Given the description of an element on the screen output the (x, y) to click on. 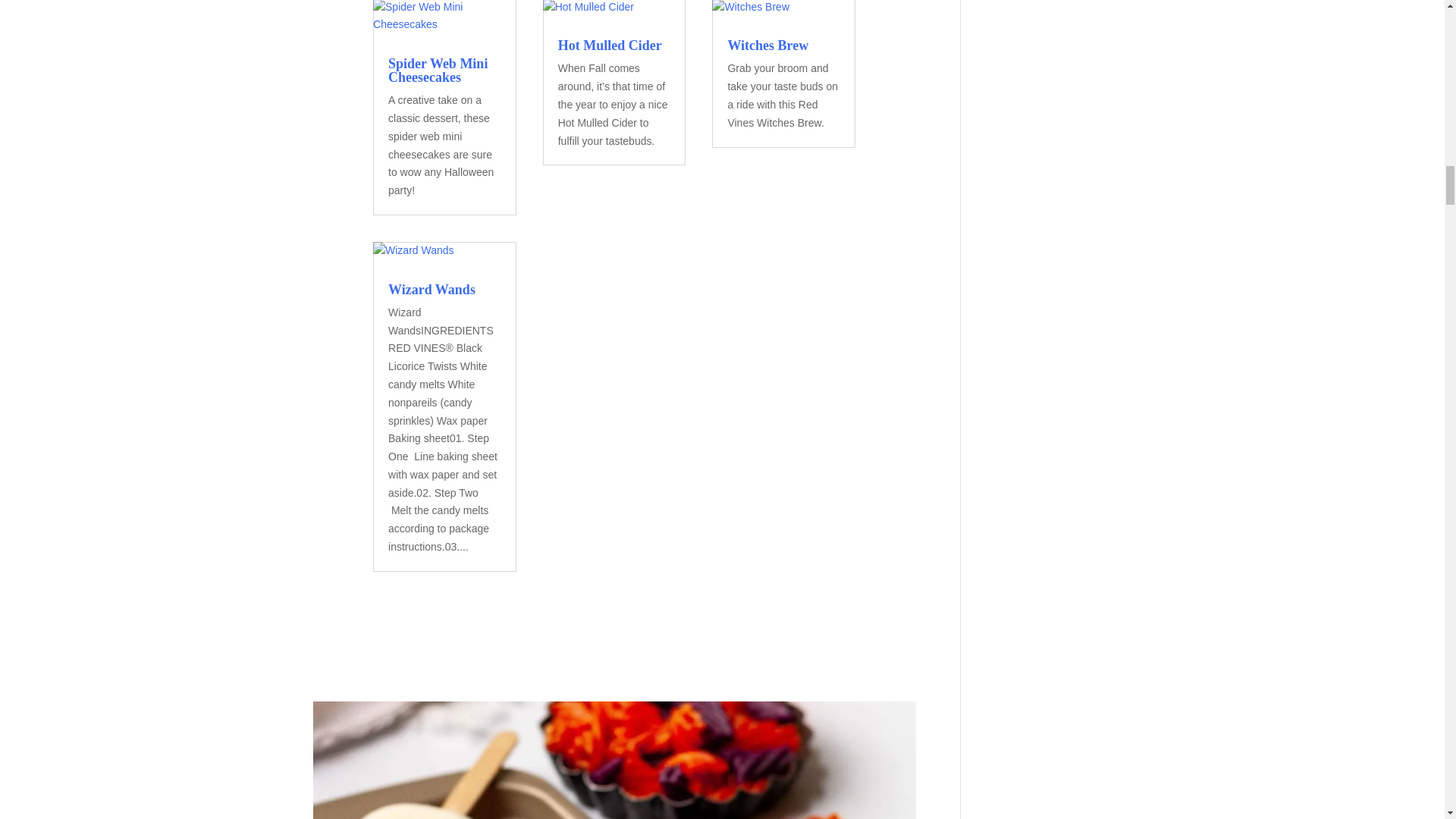
Spider Web Mini Cheesecakes (437, 70)
Witches Brew (767, 45)
Hot Mulled Cider (609, 45)
Wizard Wands (432, 289)
